Given the description of an element on the screen output the (x, y) to click on. 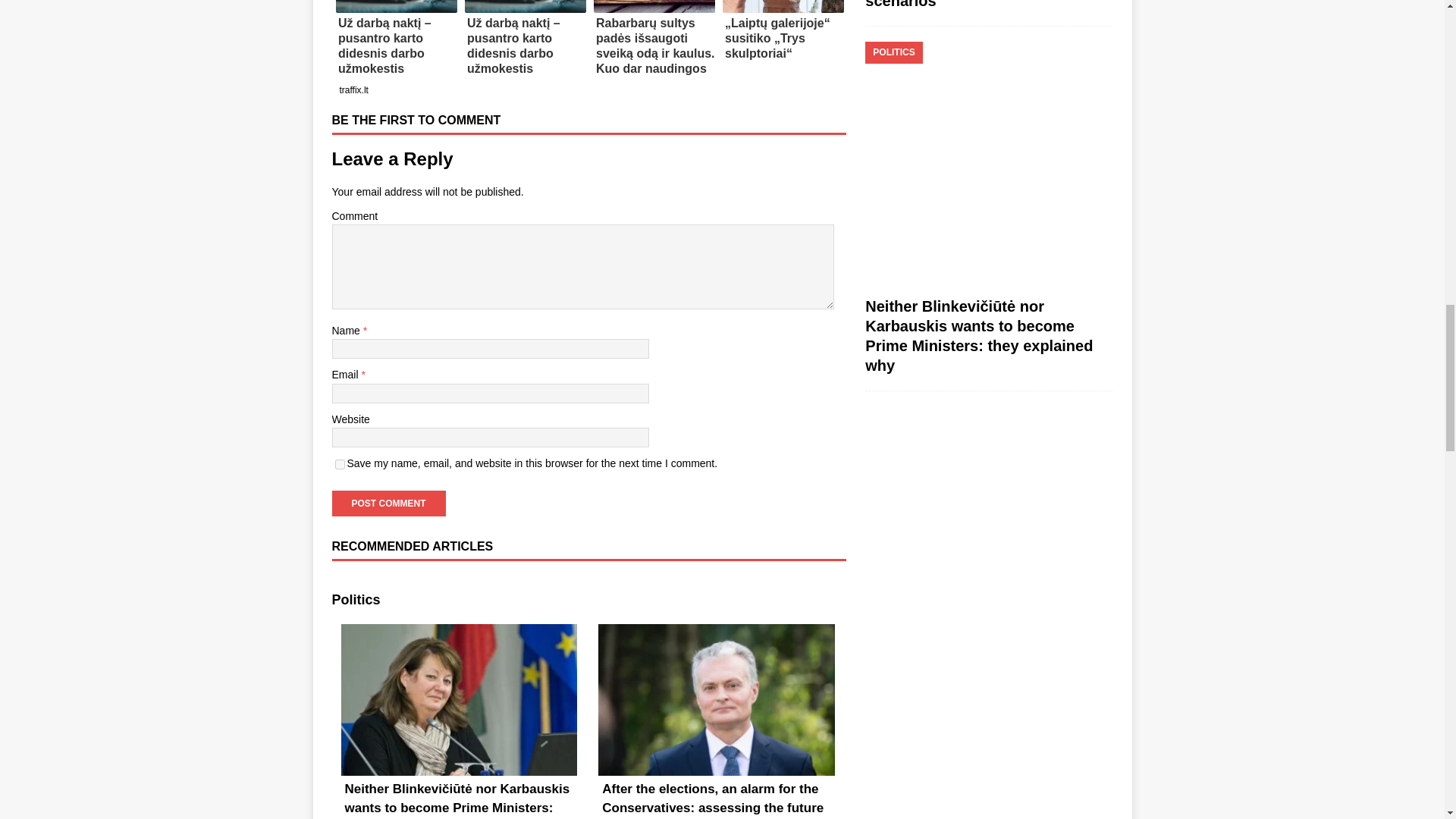
Post Comment (388, 503)
yes (339, 464)
